Given the description of an element on the screen output the (x, y) to click on. 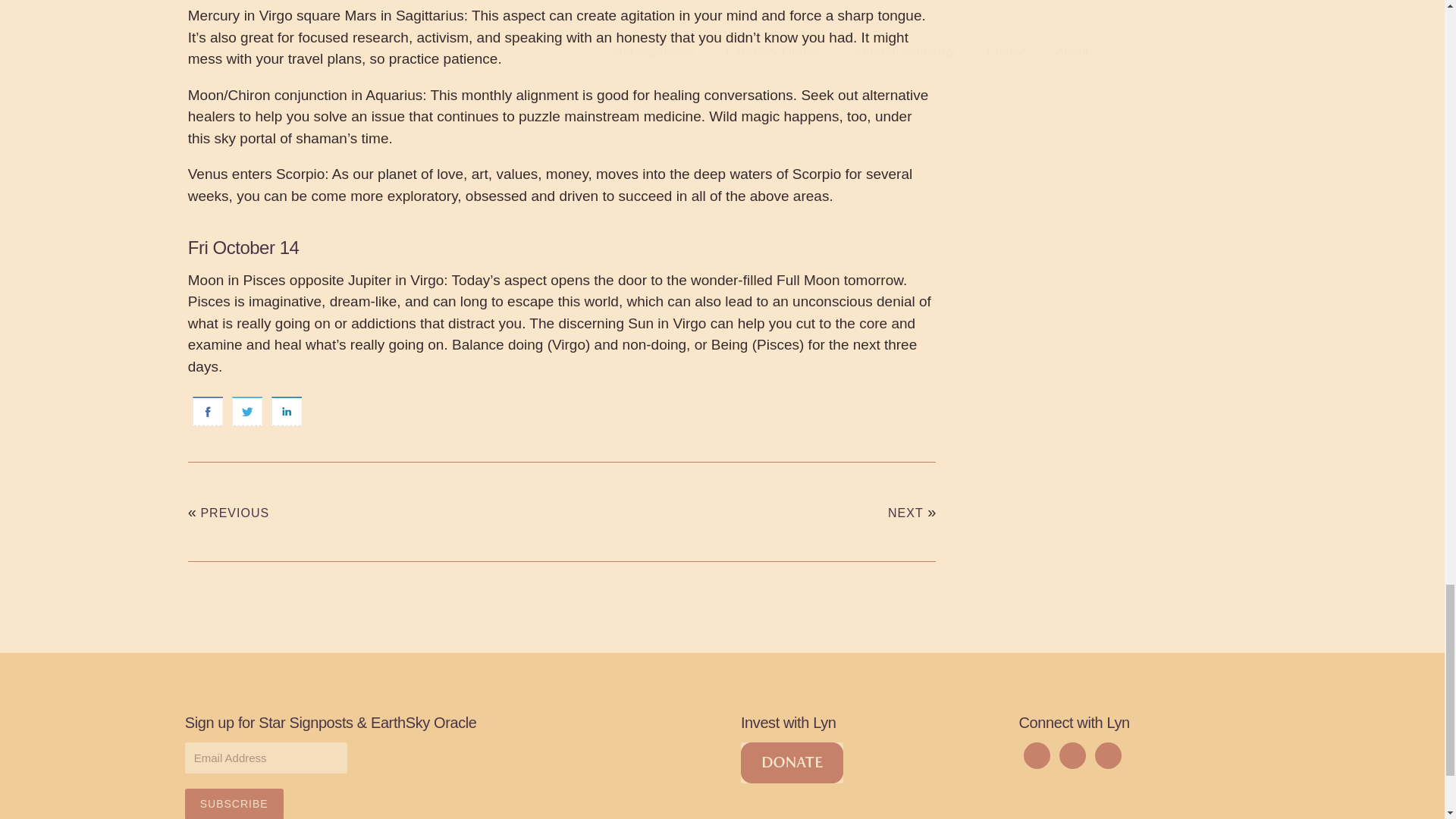
twitter (246, 411)
Subscribe (233, 803)
NEXT (905, 512)
Subscribe (233, 803)
facebook (207, 411)
linkedin (285, 411)
PayPal - The safer, easier way to pay online! (792, 762)
PREVIOUS (234, 512)
